Given the description of an element on the screen output the (x, y) to click on. 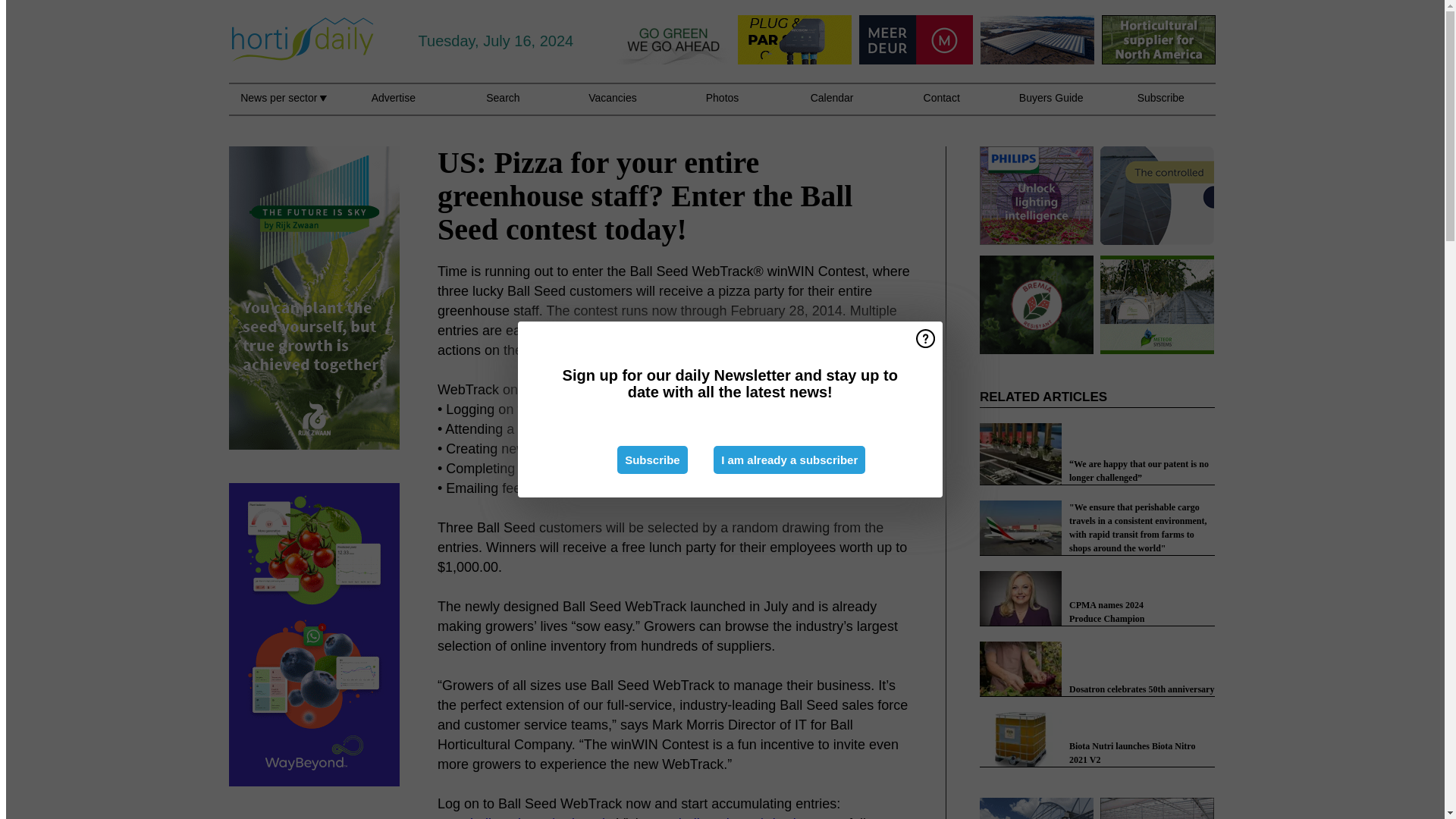
Subscribe (652, 459)
News per sector (283, 106)
I am already a subscriber (788, 459)
